Given the description of an element on the screen output the (x, y) to click on. 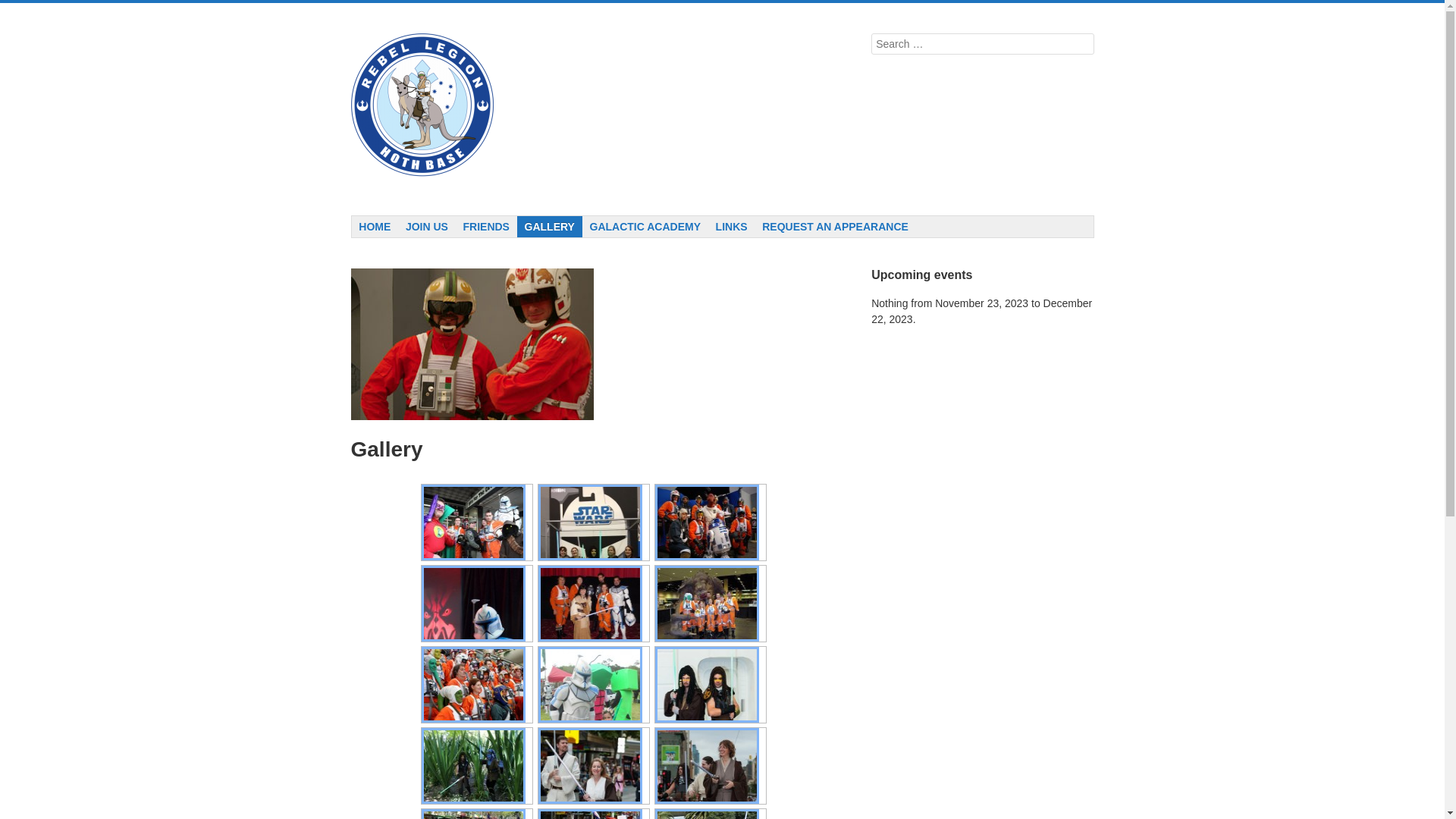
LINKS Element type: text (731, 226)
Hoth Base Element type: hover (595, 109)
JOIN US Element type: text (426, 226)
HOME Element type: text (374, 226)
Search Element type: text (22, 9)
GALACTIC ACADEMY Element type: text (645, 226)
FRIENDS Element type: text (486, 226)
REQUEST AN APPEARANCE Element type: text (834, 226)
SKIP TO CONTENT Element type: text (405, 225)
GALLERY Element type: text (549, 226)
